Given the description of an element on the screen output the (x, y) to click on. 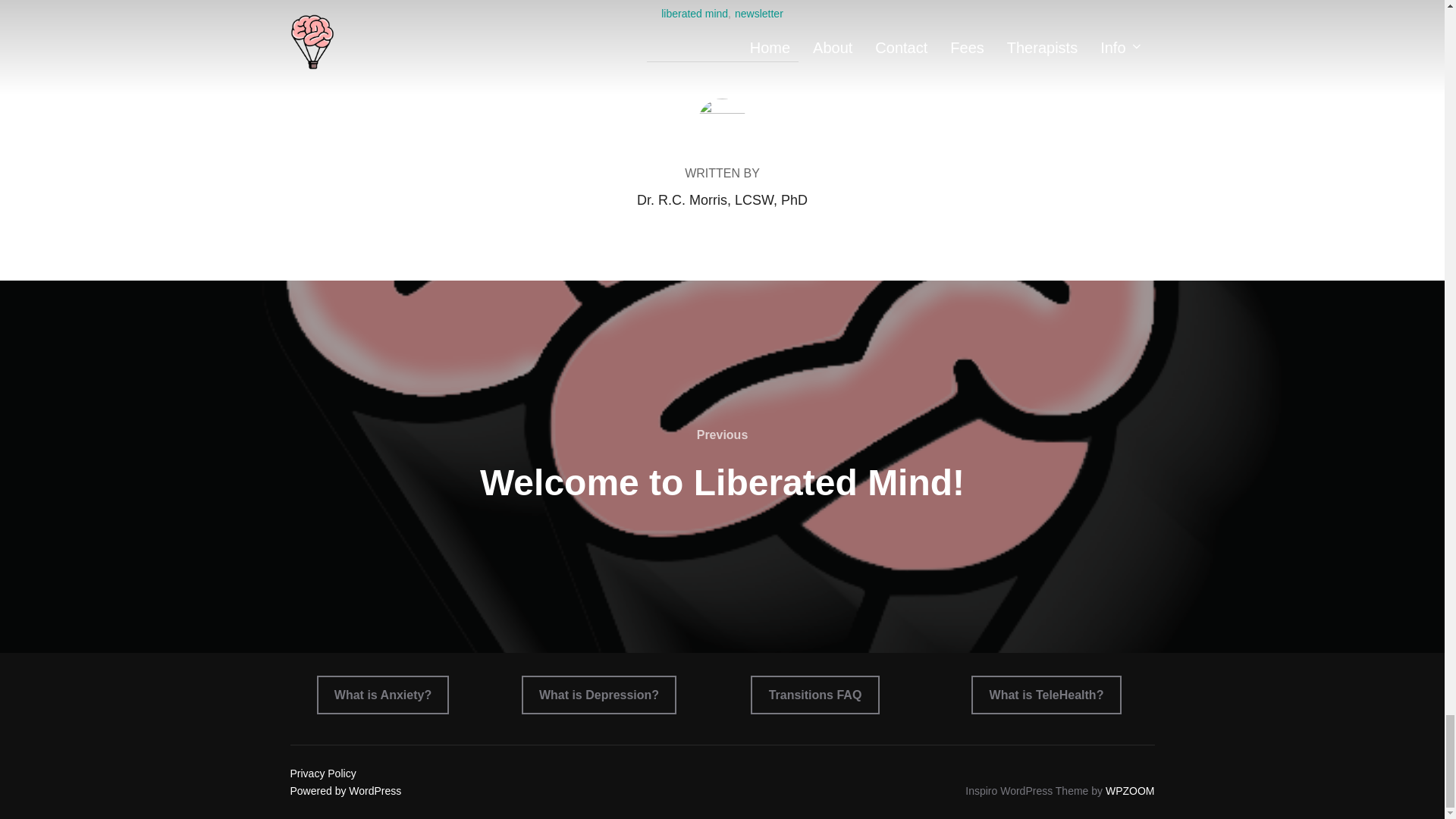
Posts by Dr. R.C. Morris, LCSW, PhD (722, 200)
